Given the description of an element on the screen output the (x, y) to click on. 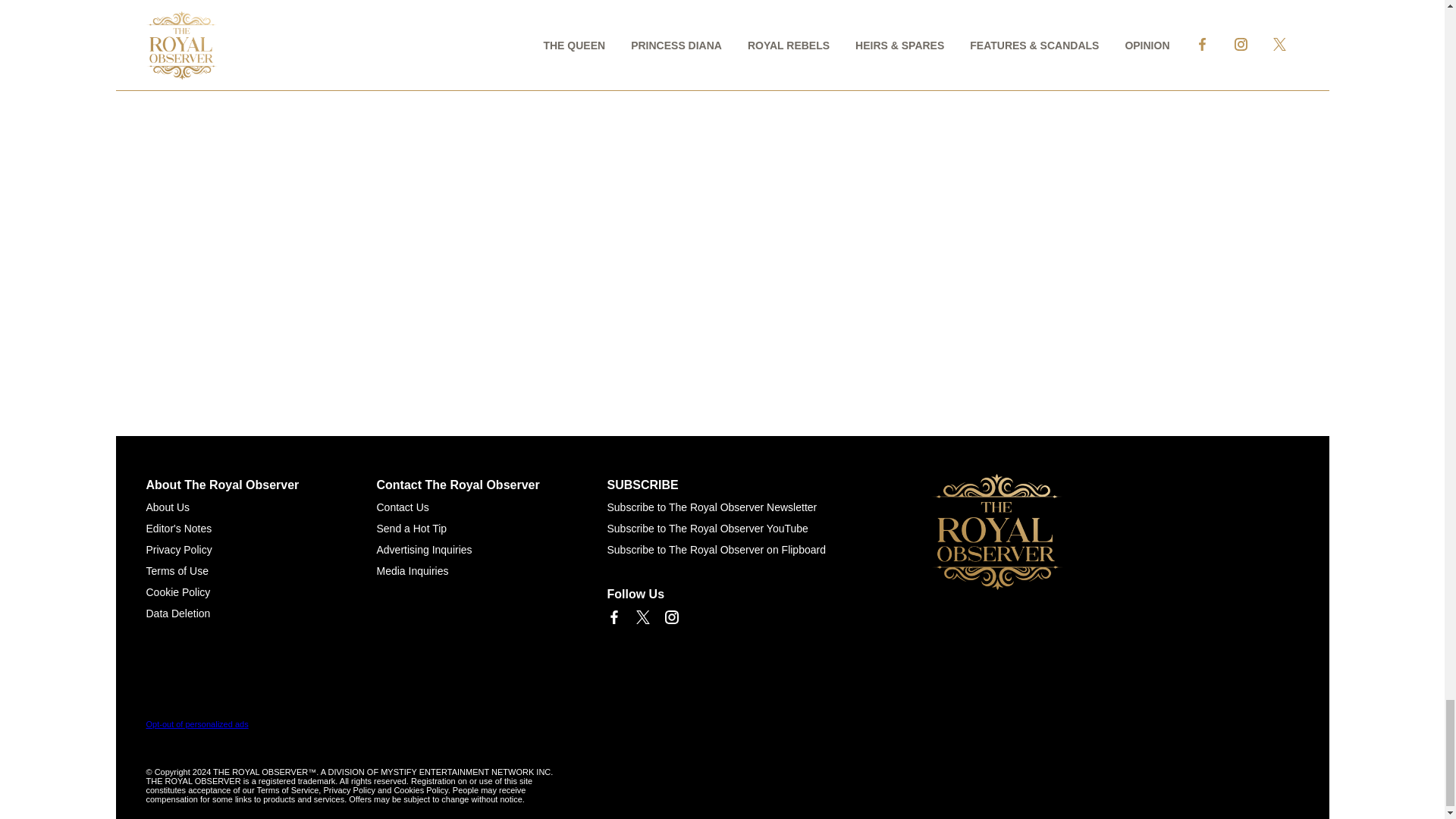
Privacy Policy (178, 549)
Link to Facebook (613, 617)
Contact Us (401, 507)
Send a Hot Tip (410, 528)
Link to Instagram (670, 617)
Link to X (641, 617)
Cookie Policy (177, 592)
Editor's Notes (178, 528)
Advertising Inquiries (423, 549)
Media Inquiries (411, 571)
Terms of Use (176, 571)
Data Deletion (177, 613)
About Us (167, 507)
